Given the description of an element on the screen output the (x, y) to click on. 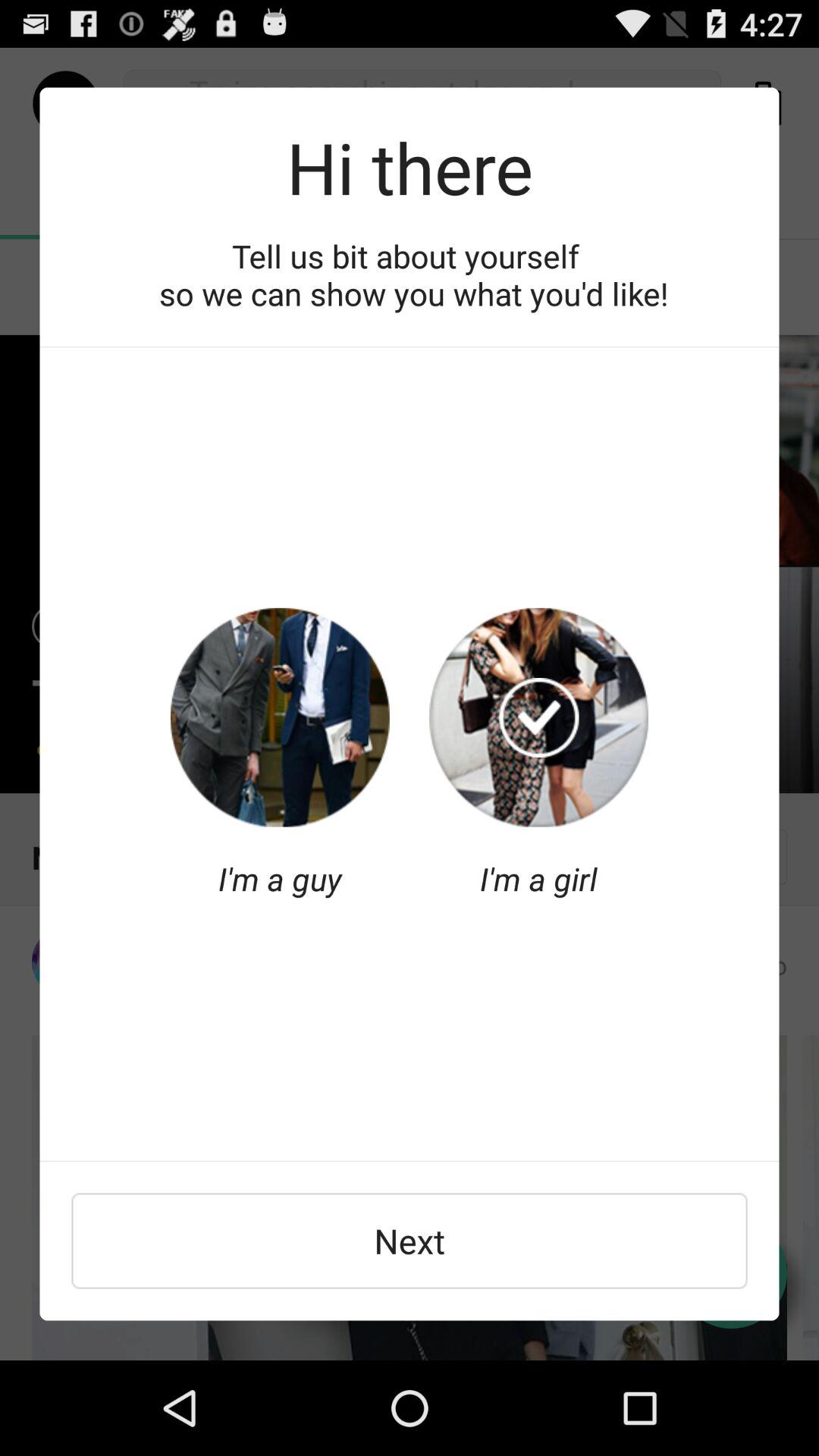
toggle im a girl option (538, 716)
